Given the description of an element on the screen output the (x, y) to click on. 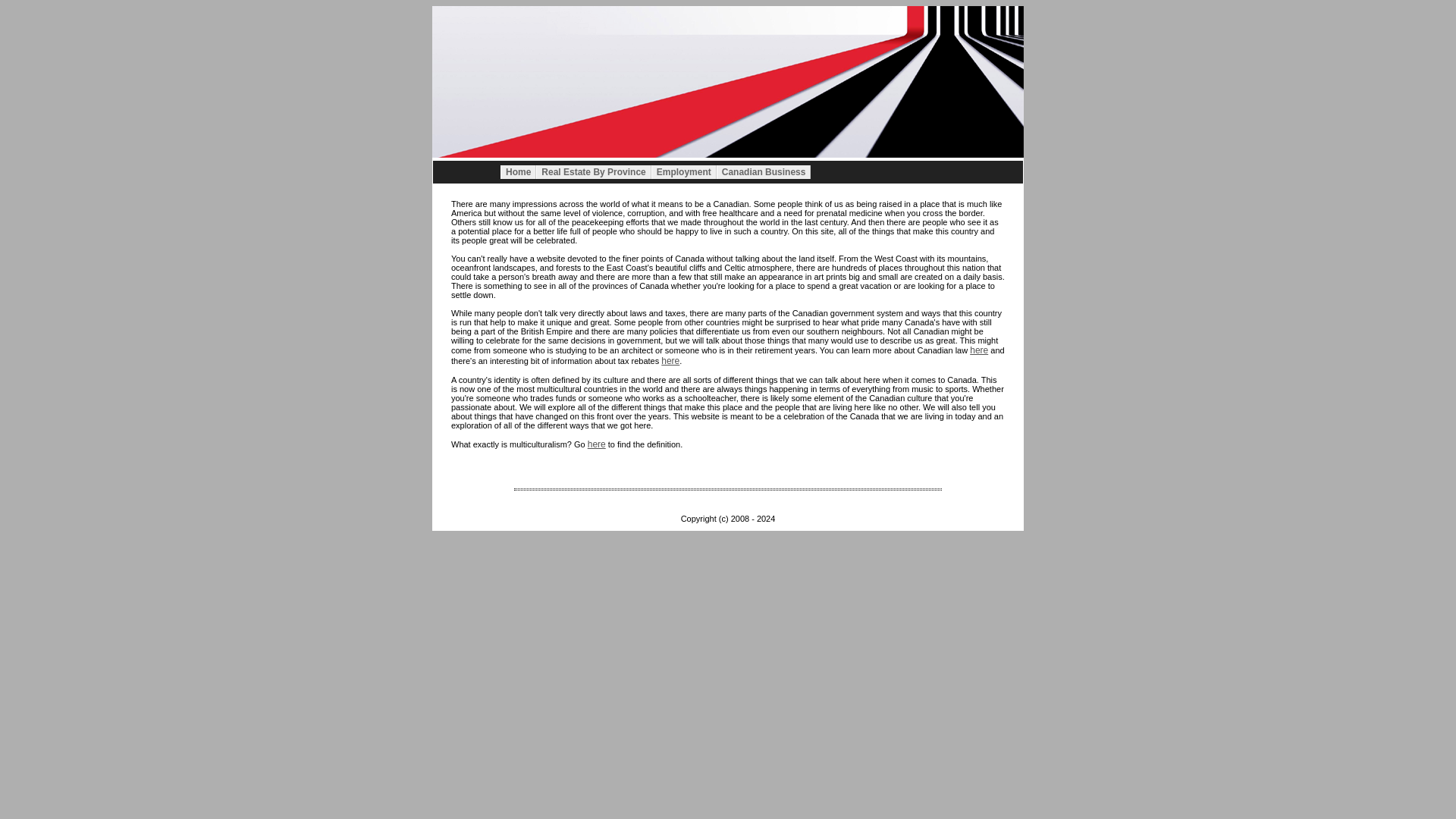
here (670, 360)
here (596, 443)
Home (517, 172)
Canadian Business (763, 172)
Real Estate By Province (592, 172)
here (978, 349)
Employment (683, 172)
